Given the description of an element on the screen output the (x, y) to click on. 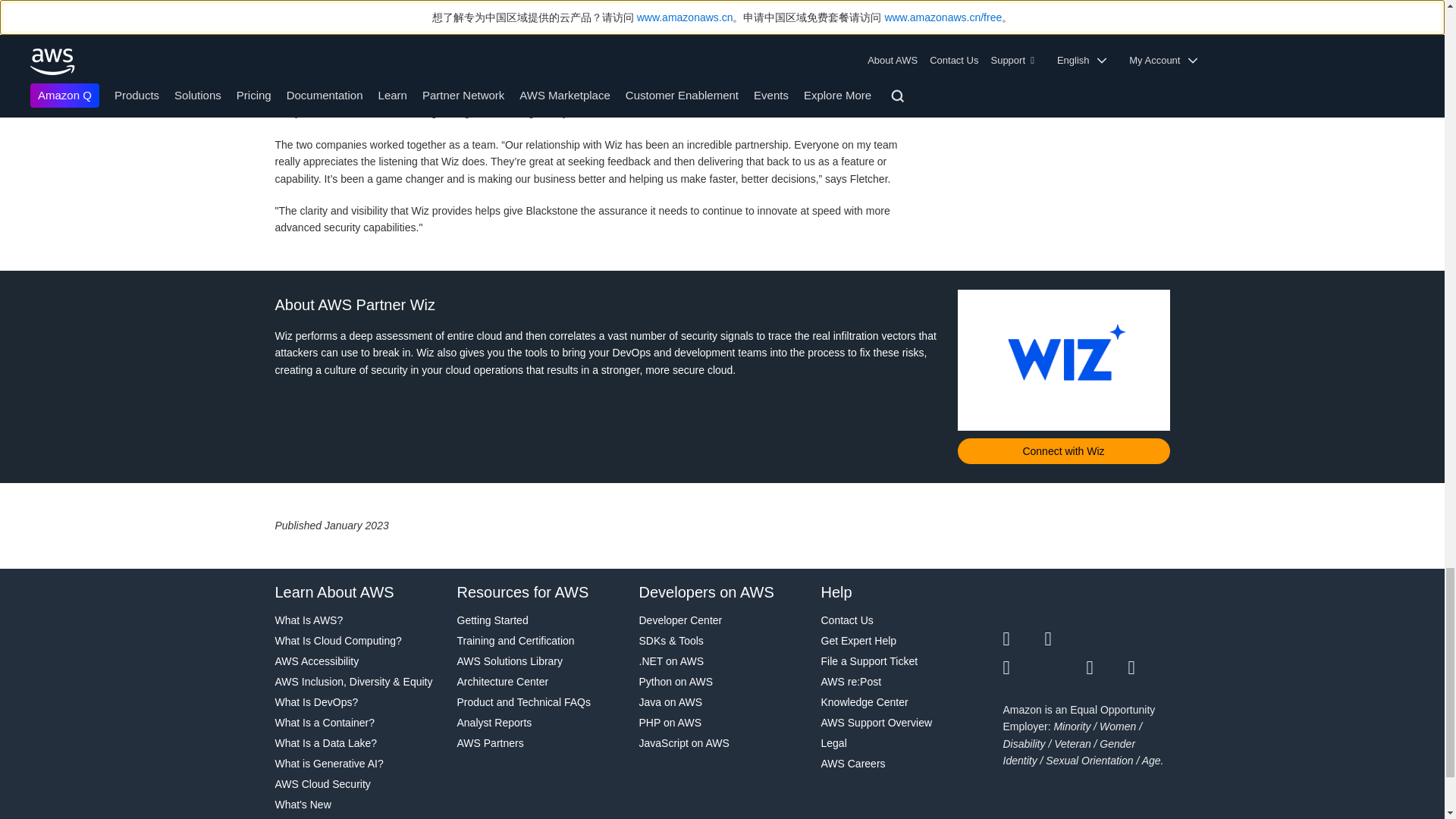
Facebook (1065, 639)
Wiz (1062, 360)
Linkedin (1106, 639)
Twitch (1023, 667)
Email (1149, 667)
YouTube (1065, 667)
Podcast (1106, 667)
Twitter (1023, 639)
Instagram (1149, 639)
